Given the description of an element on the screen output the (x, y) to click on. 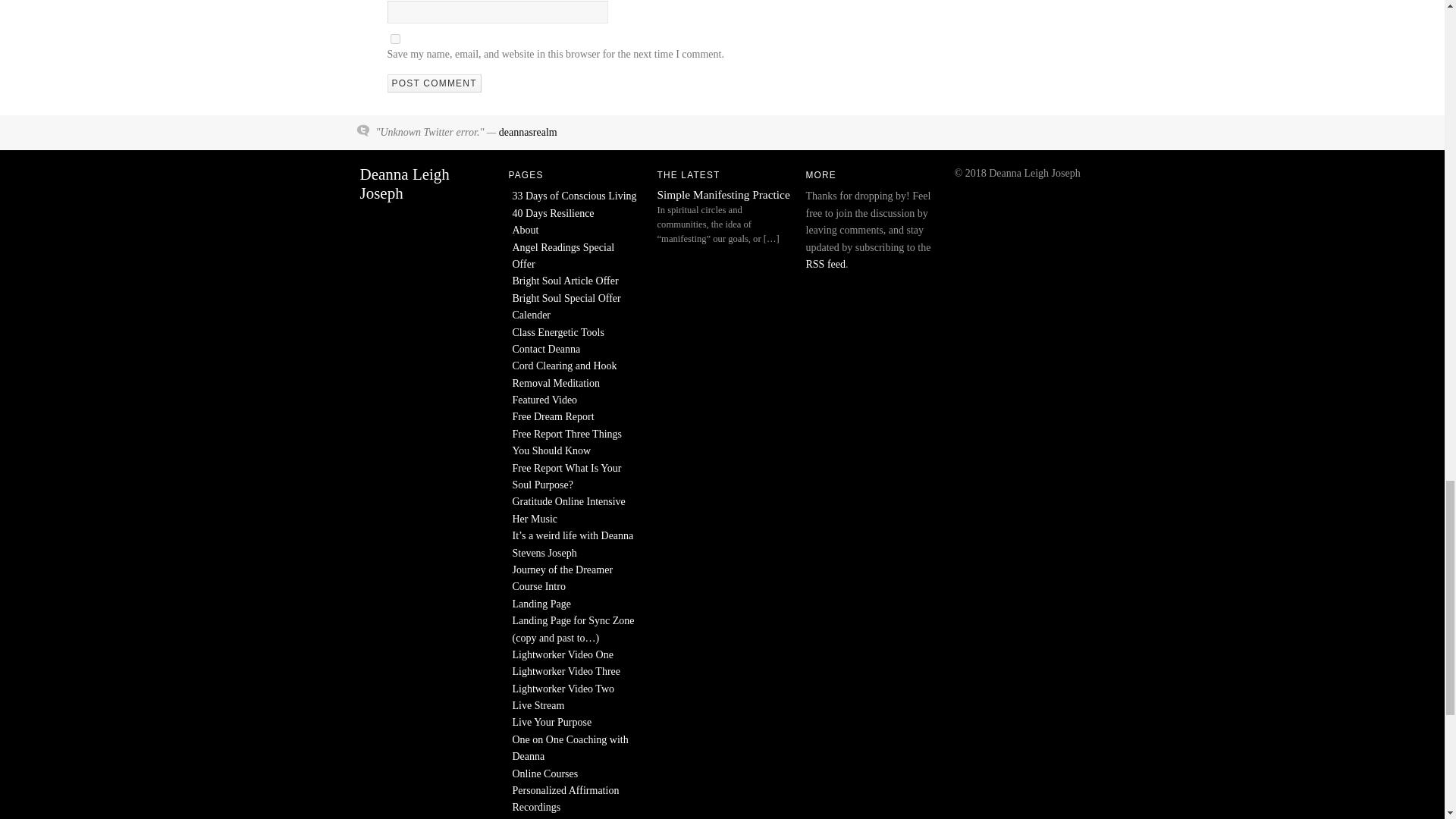
Home (403, 183)
Calender (531, 315)
Free Report What Is Your Soul Purpose? (566, 476)
deannasrealm (528, 132)
Deanna Leigh Joseph (403, 183)
Her Music (534, 518)
Bright Soul Article Offer (565, 280)
Post Comment (433, 83)
40 Days Resilience (553, 213)
Class Energetic Tools (558, 331)
Angel Readings Special Offer (563, 255)
Bright Soul Special Offer (566, 297)
Contact Deanna (546, 348)
About (525, 229)
33 Days of Conscious Living (574, 195)
